Given the description of an element on the screen output the (x, y) to click on. 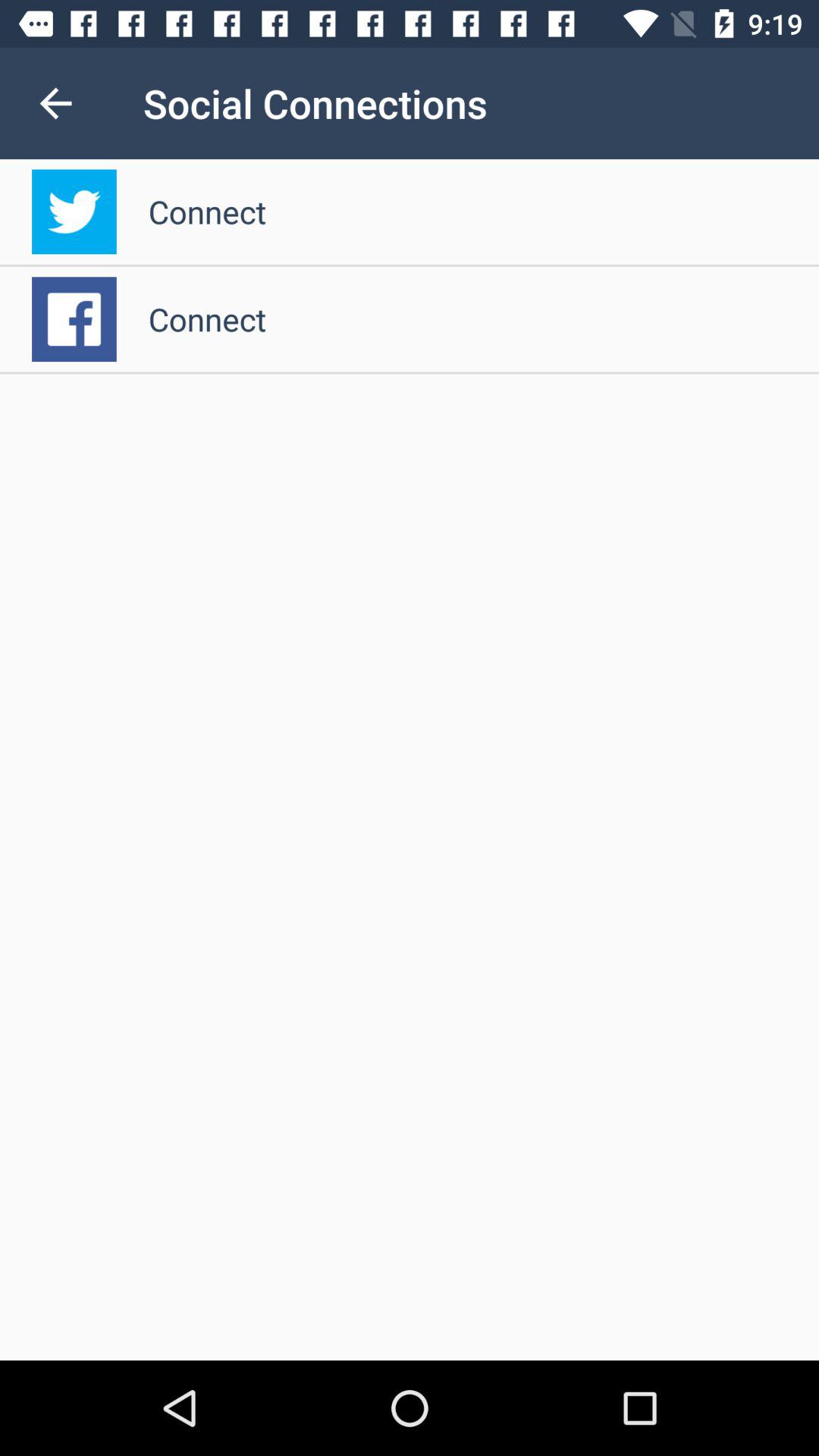
press item to the left of social connections (55, 103)
